Given the description of an element on the screen output the (x, y) to click on. 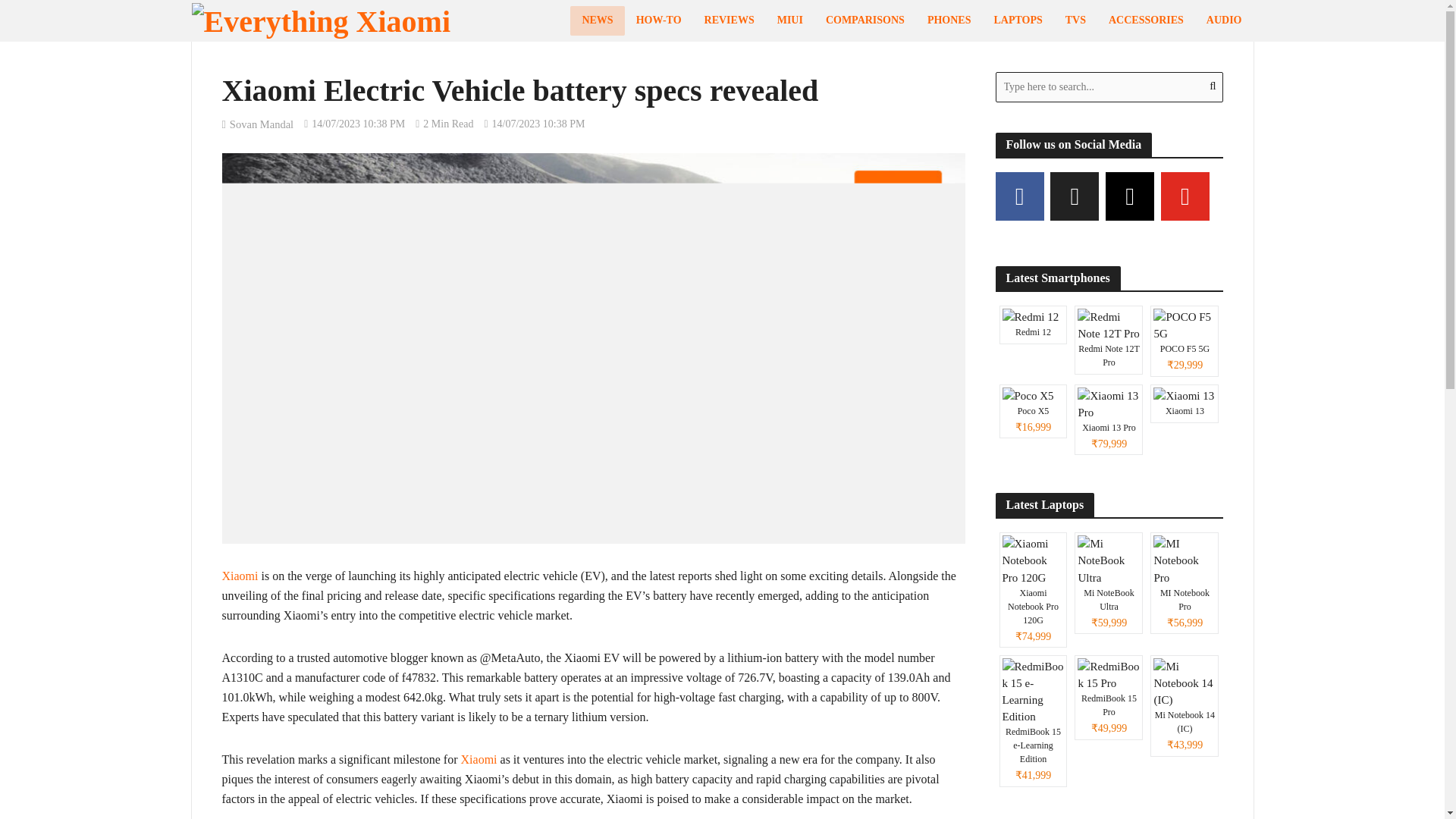
Instagram (1129, 195)
HOW-TO (658, 20)
Sovan Mandal (262, 125)
ACCESSORIES (1146, 20)
NEWS (597, 20)
AUDIO (1224, 20)
Facebook (1018, 195)
Poco X5 (1032, 411)
Xiaomi (239, 577)
PHONES (948, 20)
